Given the description of an element on the screen output the (x, y) to click on. 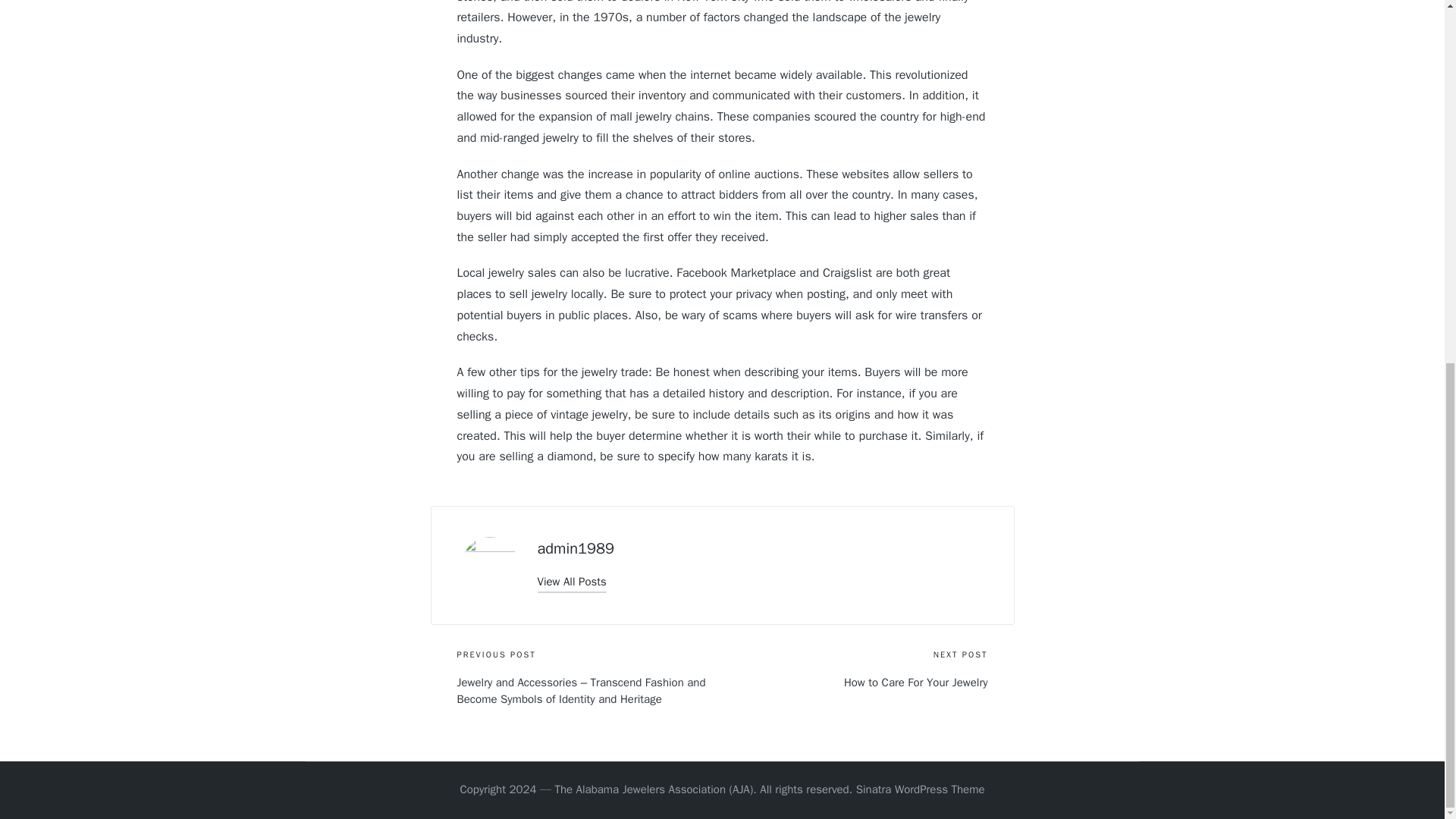
Sinatra WordPress Theme (920, 790)
View All Posts (571, 581)
How to Care For Your Jewelry (854, 682)
admin1989 (574, 547)
